Given the description of an element on the screen output the (x, y) to click on. 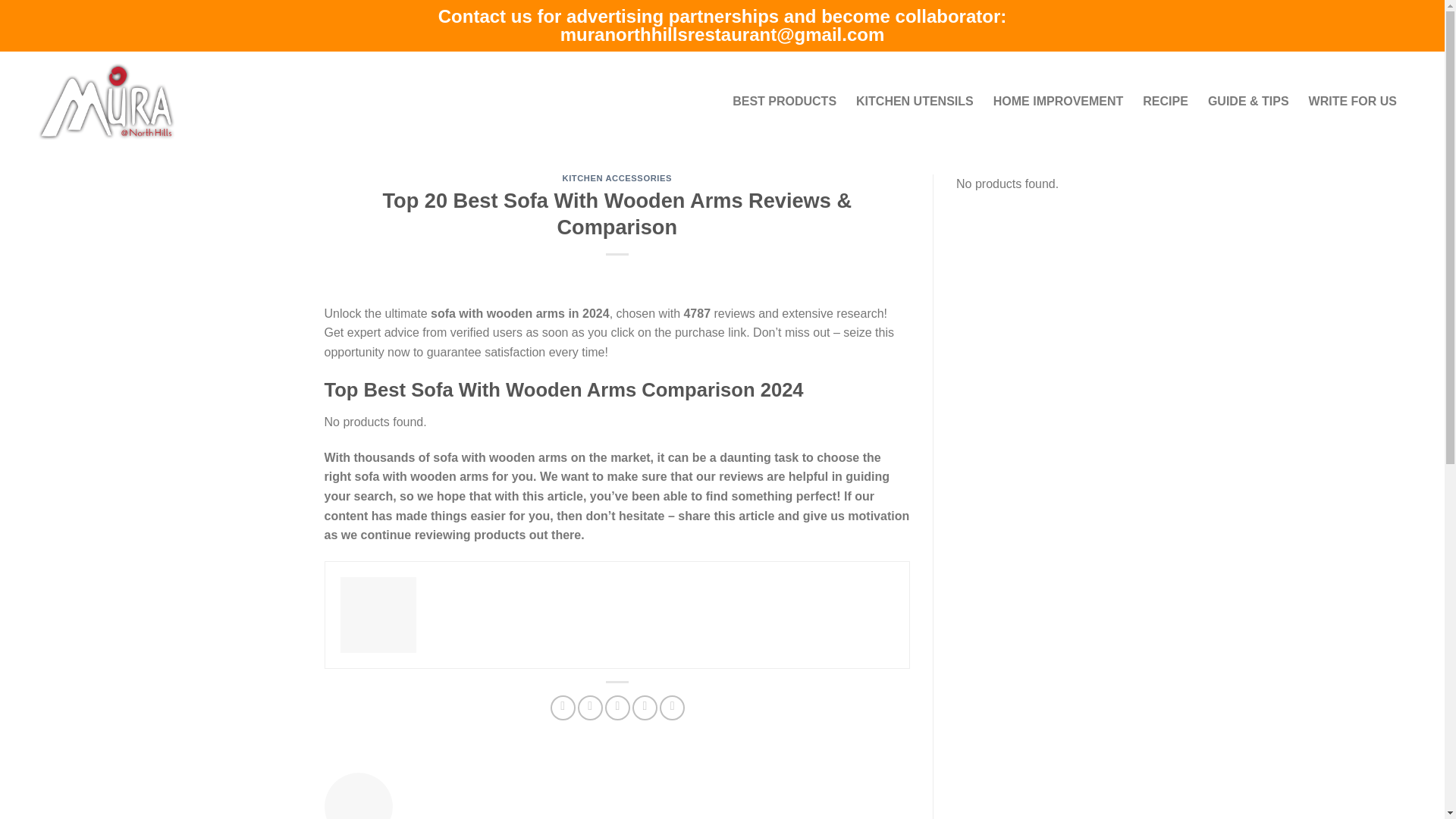
KITCHEN ACCESSORIES (617, 177)
KITCHEN UTENSILS (914, 101)
Pin on Pinterest (644, 707)
BEST PRODUCTS (783, 101)
Share on Facebook (562, 707)
Email to a Friend (617, 707)
Share on Twitter (590, 707)
Share on LinkedIn (671, 707)
HOME IMPROVEMENT (1059, 101)
RECIPE (1165, 101)
WRITE FOR US (1352, 101)
